Given the description of an element on the screen output the (x, y) to click on. 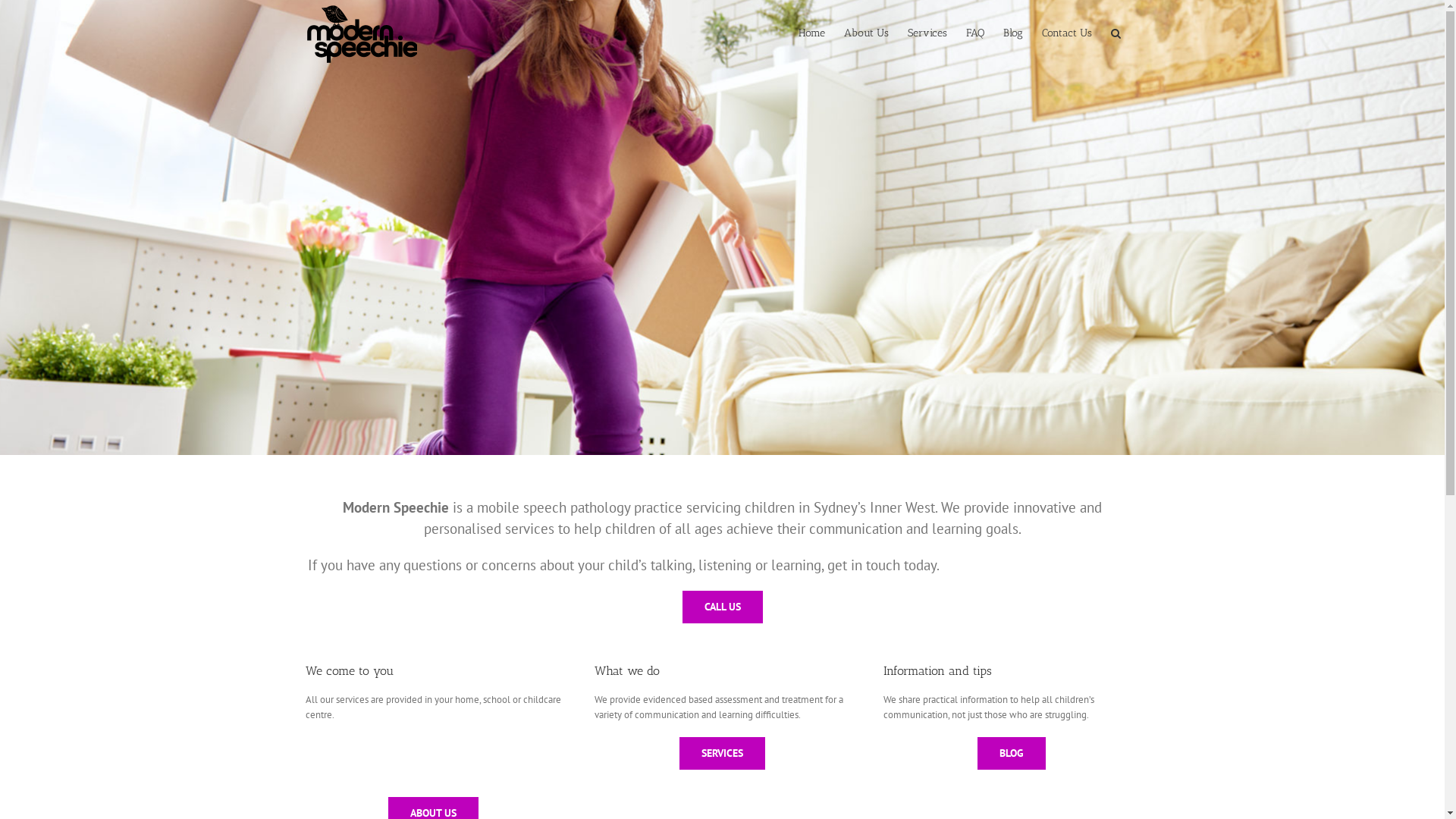
BLOG Element type: text (1011, 753)
SERVICES Element type: text (722, 753)
About Us Element type: text (865, 31)
CALL US Element type: text (722, 606)
Home Element type: text (810, 31)
Search Element type: hover (1115, 31)
Services Element type: text (926, 31)
Blog Element type: text (1012, 31)
FAQ Element type: text (975, 31)
Contact Us Element type: text (1066, 31)
